Given the description of an element on the screen output the (x, y) to click on. 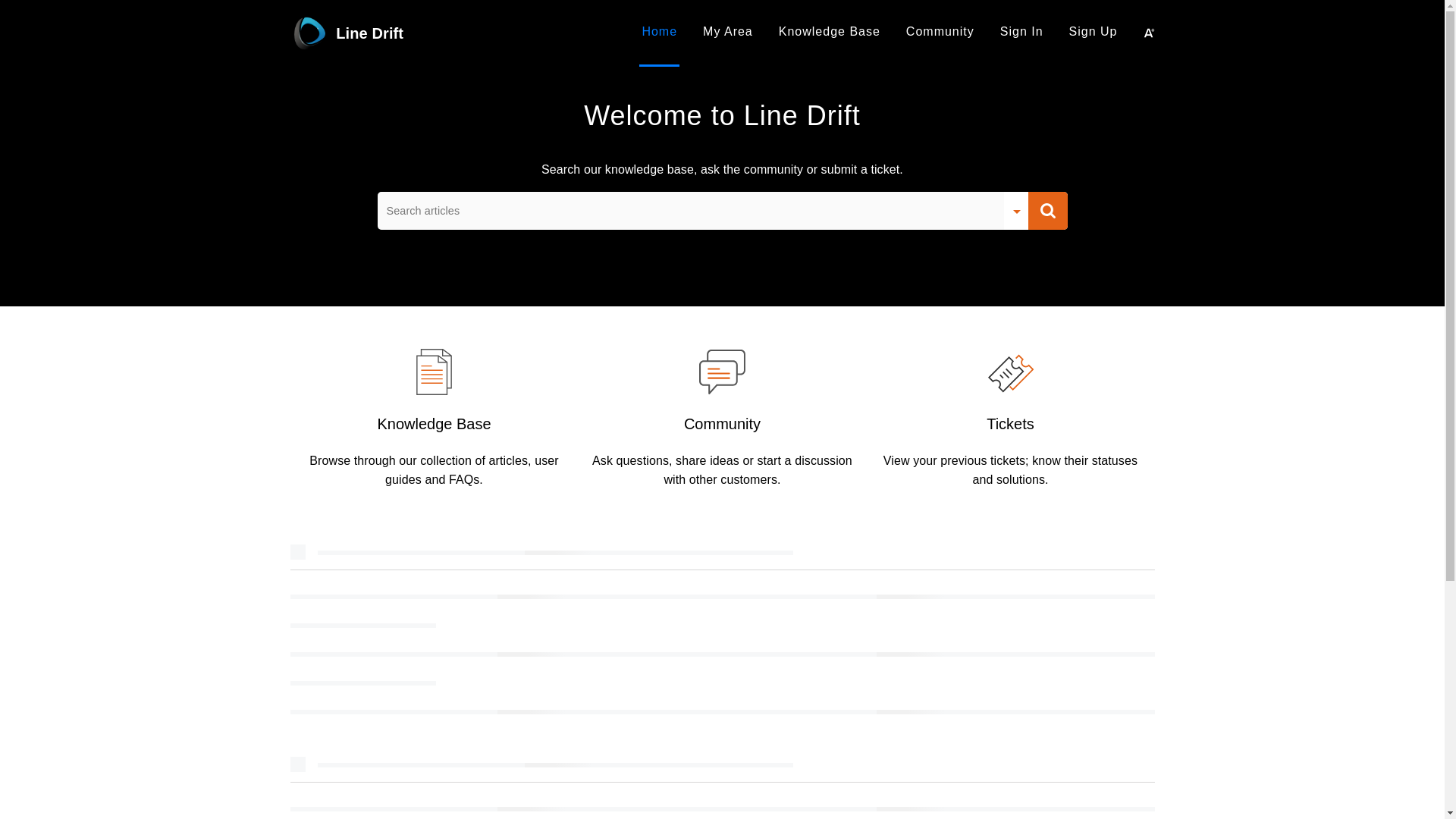
Search (1047, 210)
Sign Up (1093, 31)
Knowledge Base (433, 423)
Community (722, 423)
Community (939, 31)
Sign In (1021, 31)
Tickets (1010, 423)
My Area (727, 33)
Line Drift (482, 33)
Knowledge Base (829, 31)
Home (659, 33)
Home (659, 31)
Sign Up (1093, 33)
Community (940, 33)
Knowledge Base (829, 33)
